Given the description of an element on the screen output the (x, y) to click on. 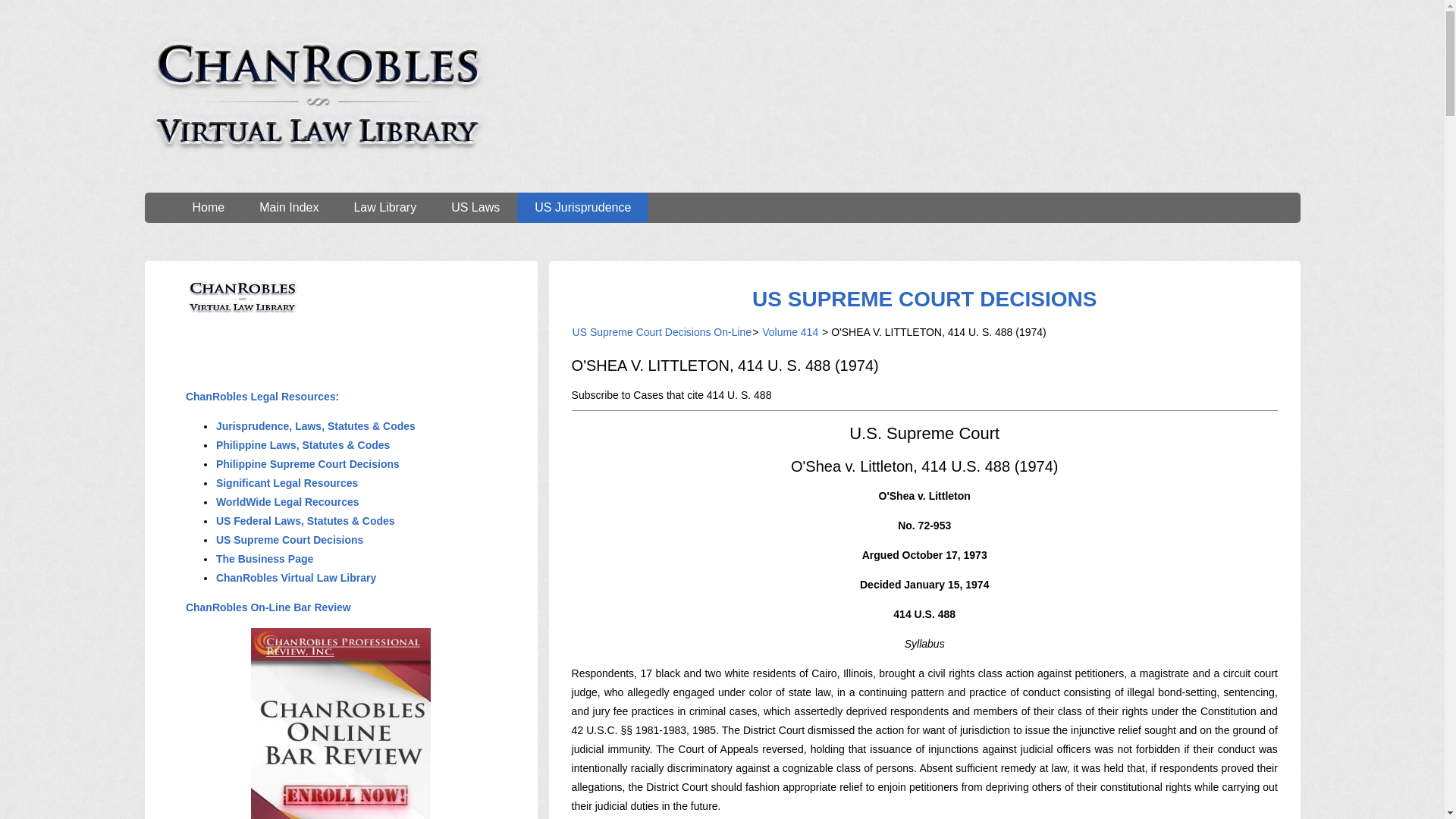
United States Supreme Court Decisions - On-Line (924, 299)
US Supreme Court Decisions (290, 539)
WorldWide Legal Recources (287, 501)
US Supreme Court Decisions On-Line (662, 331)
The Business Page (264, 558)
Main Index (288, 207)
US Laws (474, 207)
US Jurisprudence (581, 207)
Volume 414 (789, 331)
Law Library (384, 207)
